Given the description of an element on the screen output the (x, y) to click on. 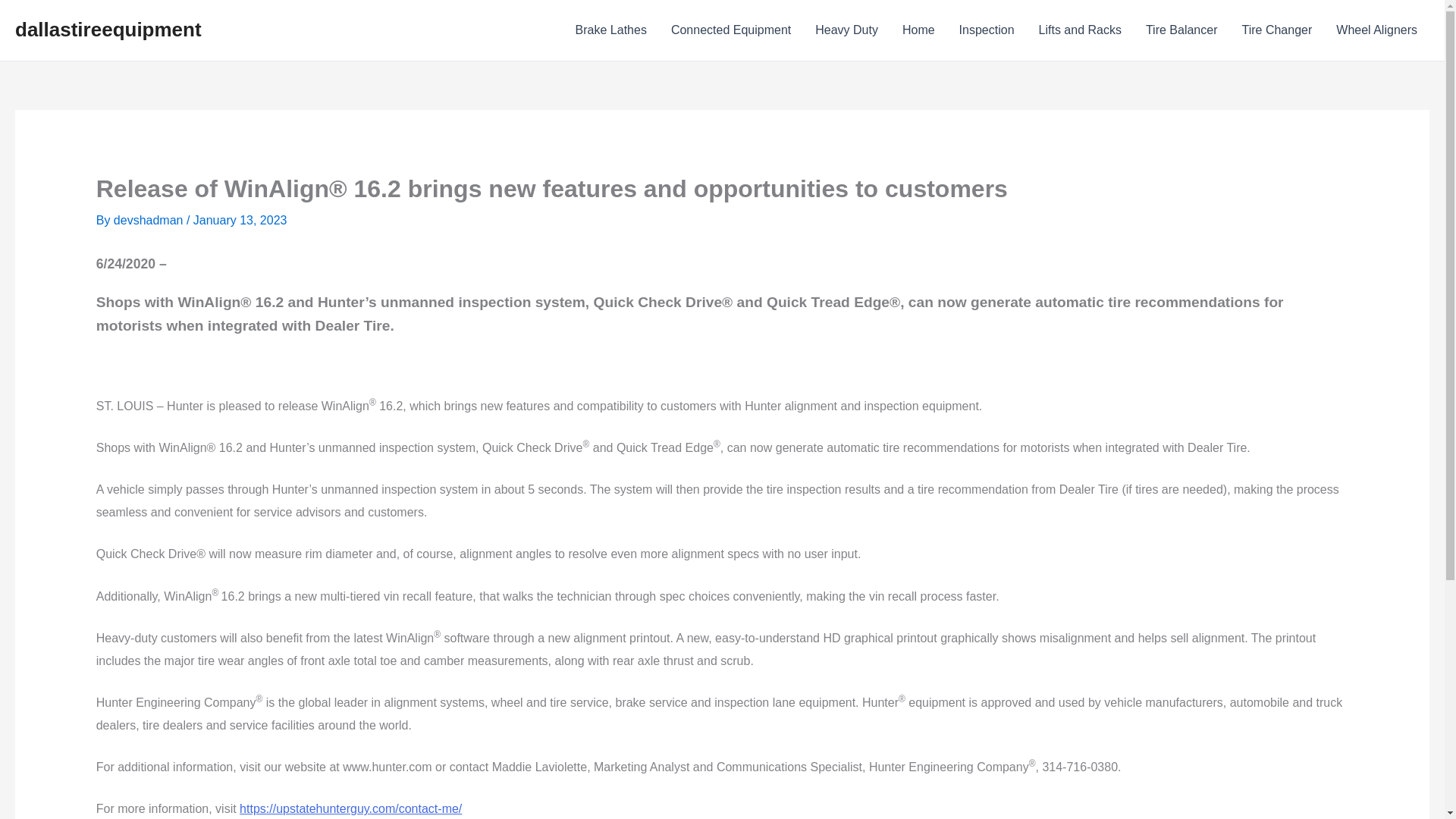
devshadman (149, 219)
Tire Balancer (1182, 30)
Wheel Aligners (1376, 30)
Inspection (986, 30)
dallastireequipment (108, 29)
Lifts and Racks (1080, 30)
Heavy Duty (846, 30)
Tire Changer (1277, 30)
View all posts by devshadman (149, 219)
Home (918, 30)
Connected Equipment (731, 30)
Brake Lathes (611, 30)
